Given the description of an element on the screen output the (x, y) to click on. 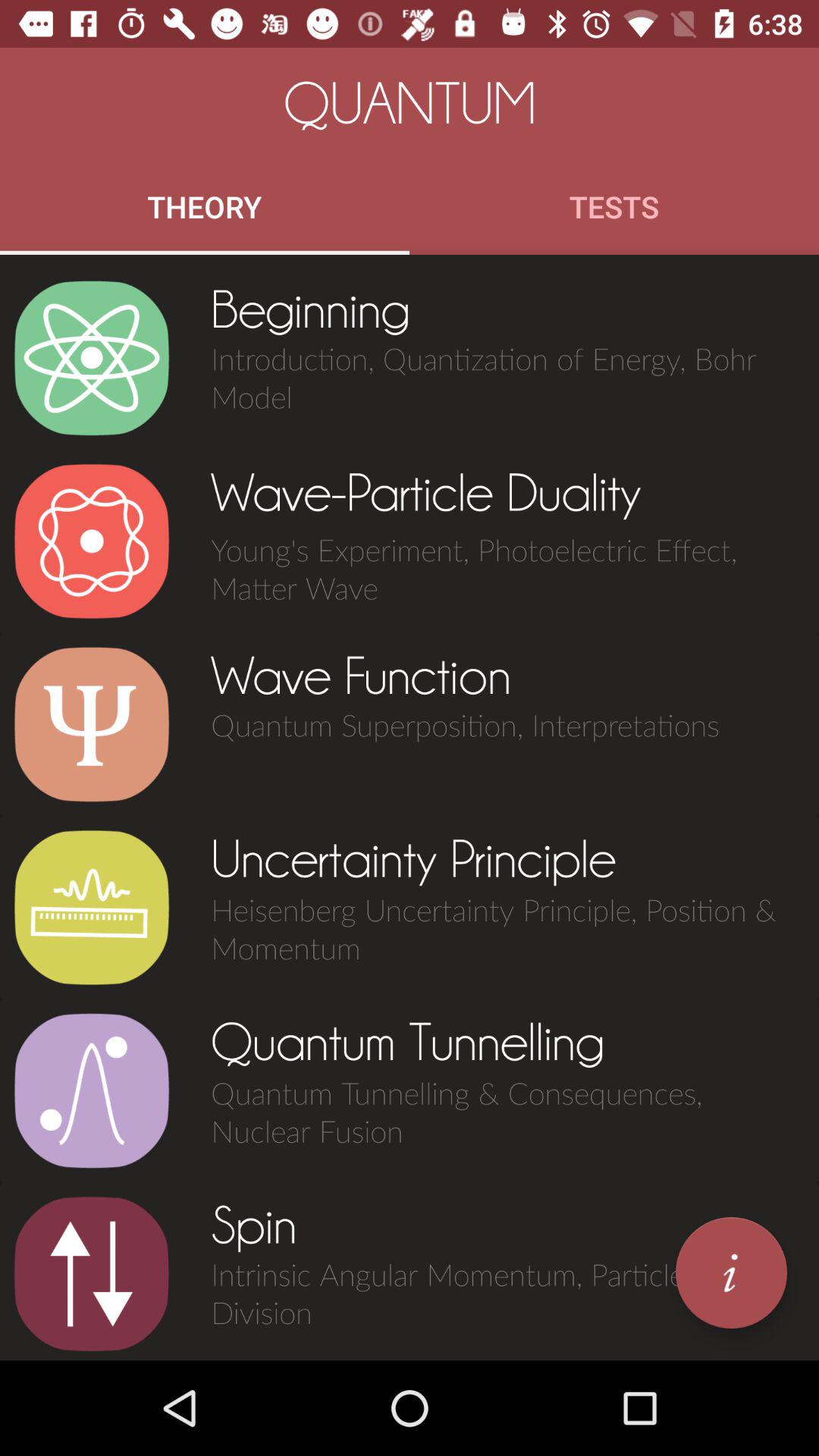
click icon next to spin (731, 1272)
